Given the description of an element on the screen output the (x, y) to click on. 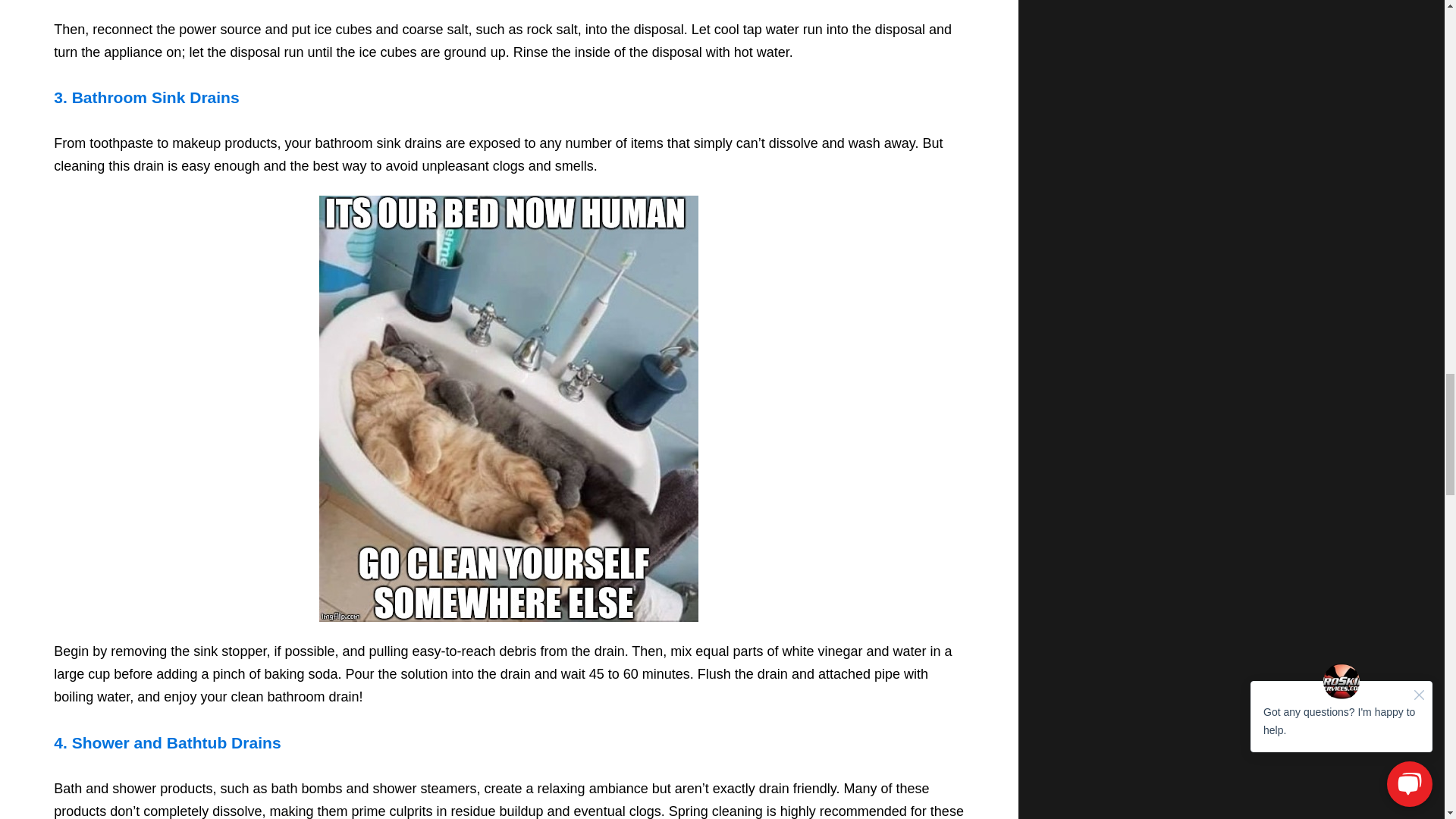
YouTube video player (508, 2)
